Given the description of an element on the screen output the (x, y) to click on. 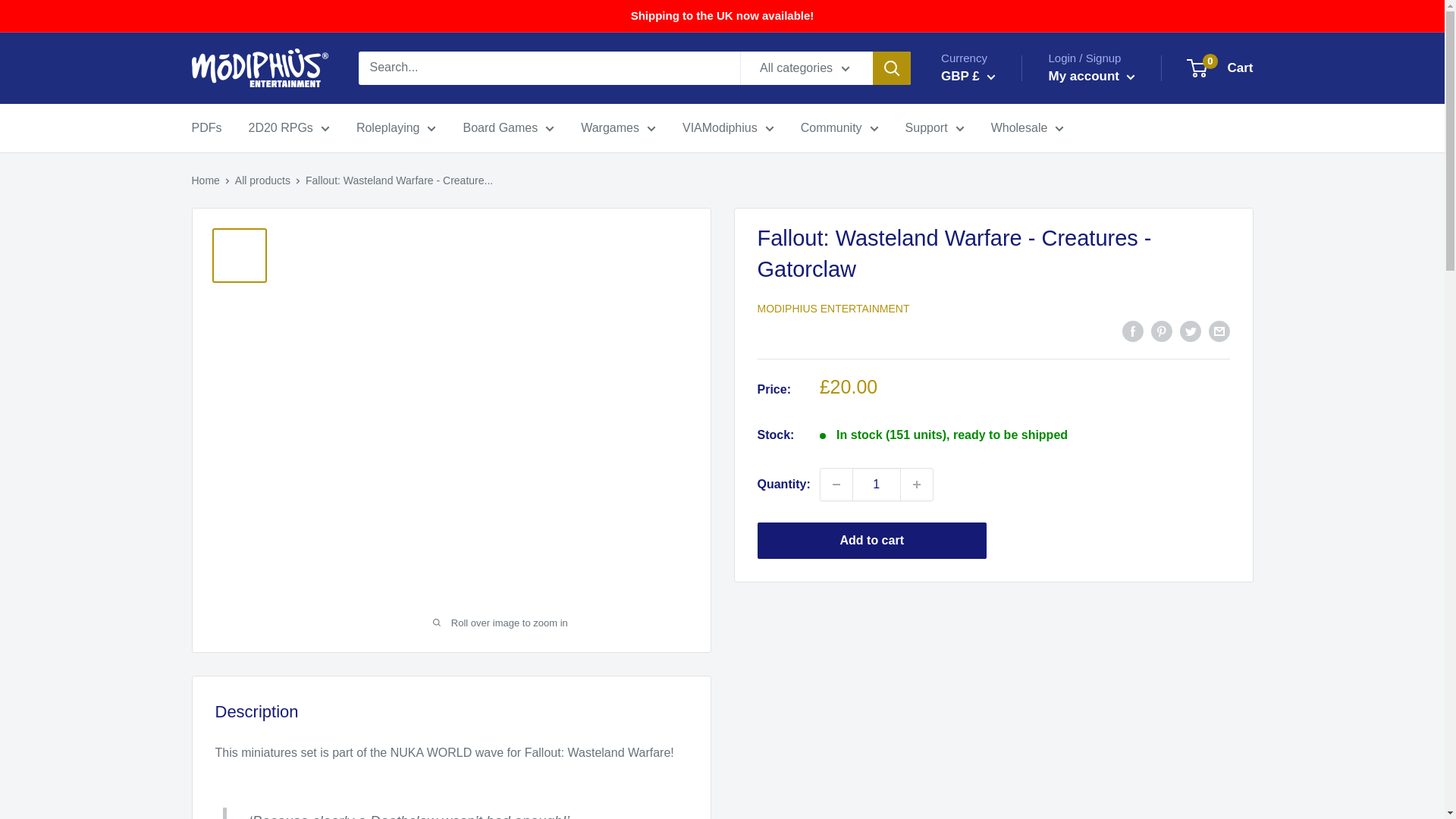
Decrease quantity by 1 (836, 484)
Increase quantity by 1 (917, 484)
1 (876, 484)
